Given the description of an element on the screen output the (x, y) to click on. 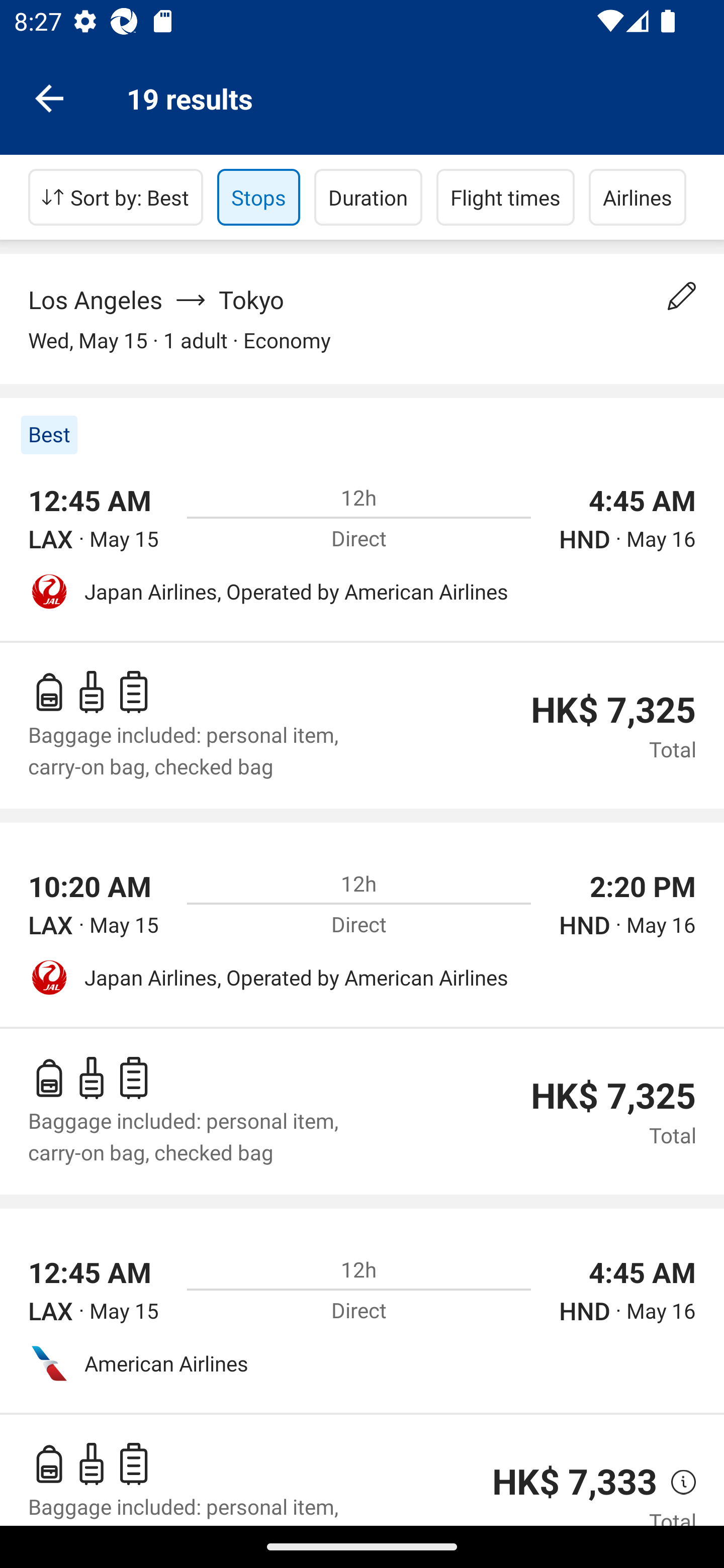
Navigate up (49, 97)
Sort by: Best (115, 197)
Stops (258, 197)
Duration (368, 197)
Flight times (505, 197)
Airlines (637, 197)
Change your search details (681, 296)
HK$ 7,325 (612, 710)
HK$ 7,325 (612, 1095)
HK$ 7,333 (574, 1481)
view price details, opens a pop-up (676, 1482)
